Given the description of an element on the screen output the (x, y) to click on. 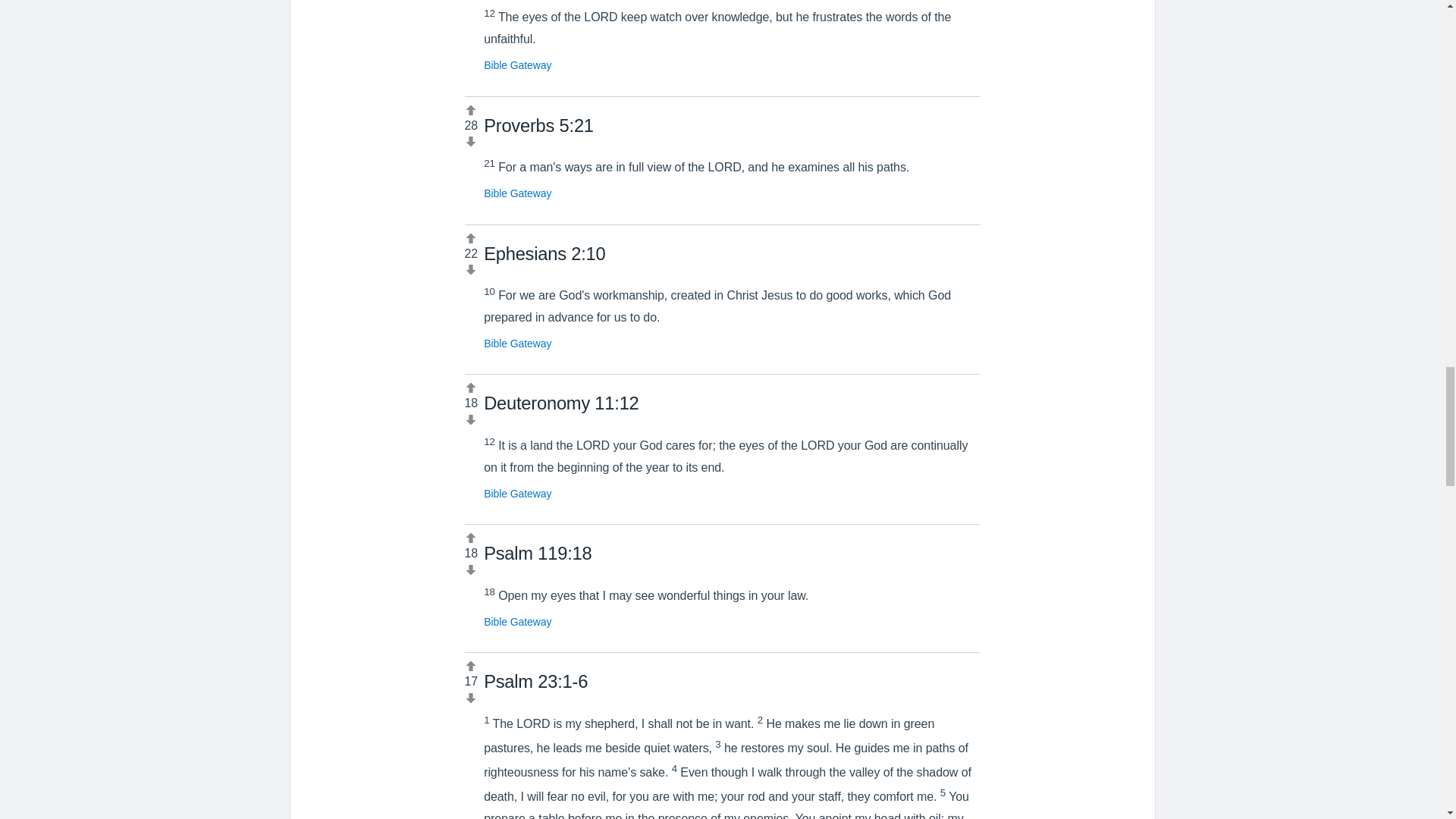
Bible Gateway (517, 343)
Bible Gateway (517, 493)
Bible Gateway (517, 193)
Bible Gateway (517, 64)
Bible Gateway (517, 621)
